Given the description of an element on the screen output the (x, y) to click on. 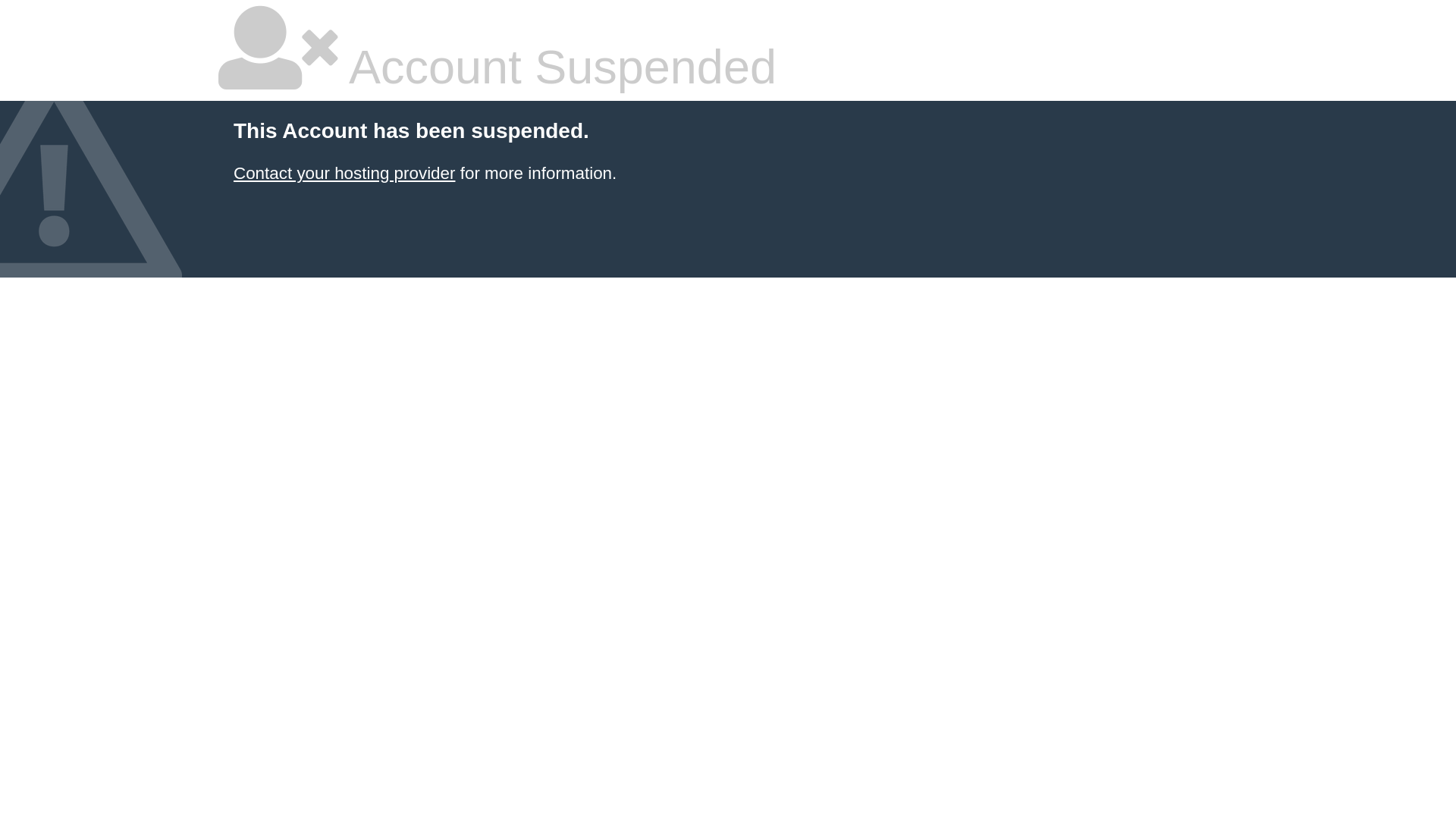
Contact your hosting provider Element type: text (344, 172)
